Given the description of an element on the screen output the (x, y) to click on. 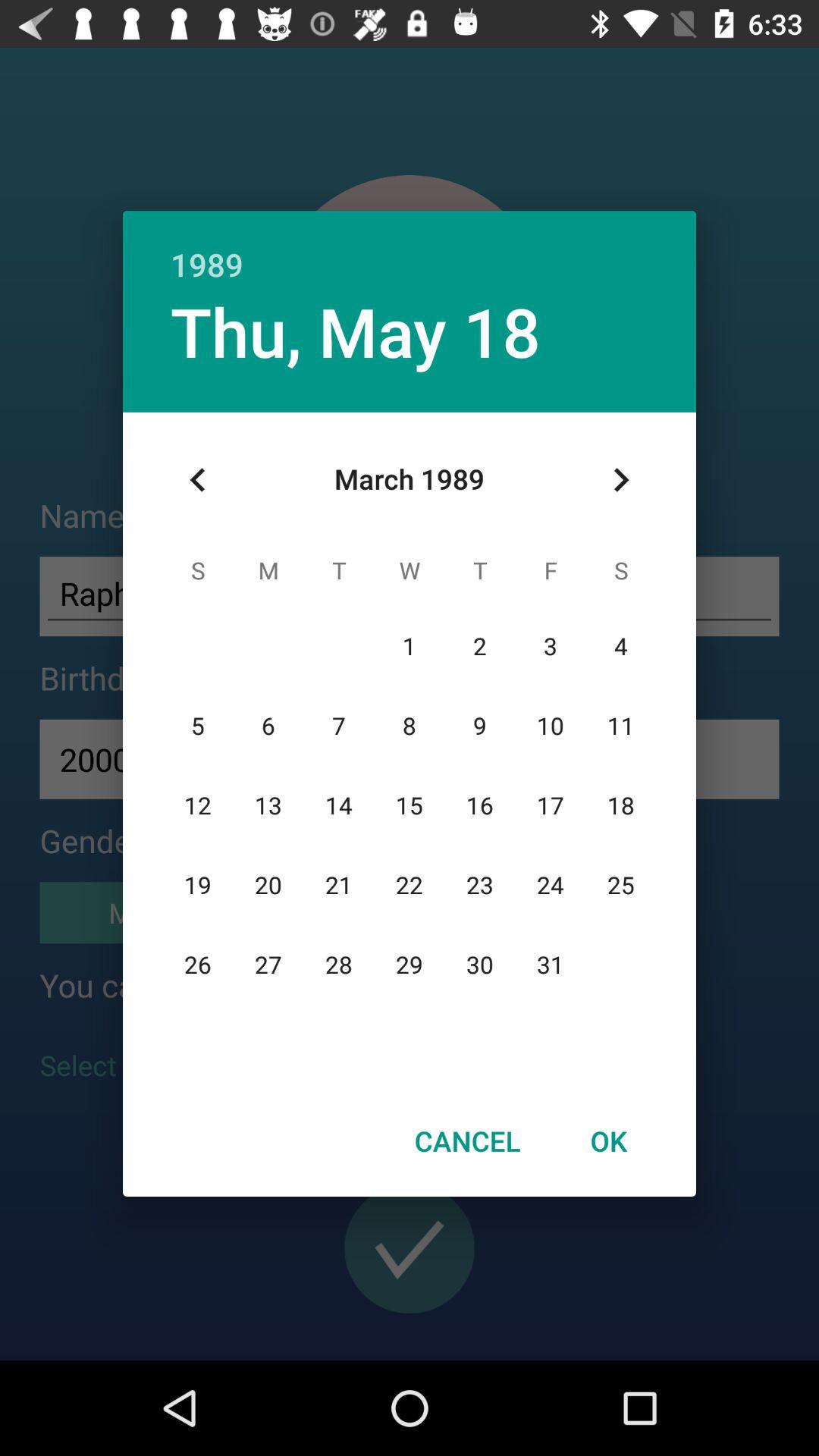
open the item next to the ok icon (467, 1140)
